Given the description of an element on the screen output the (x, y) to click on. 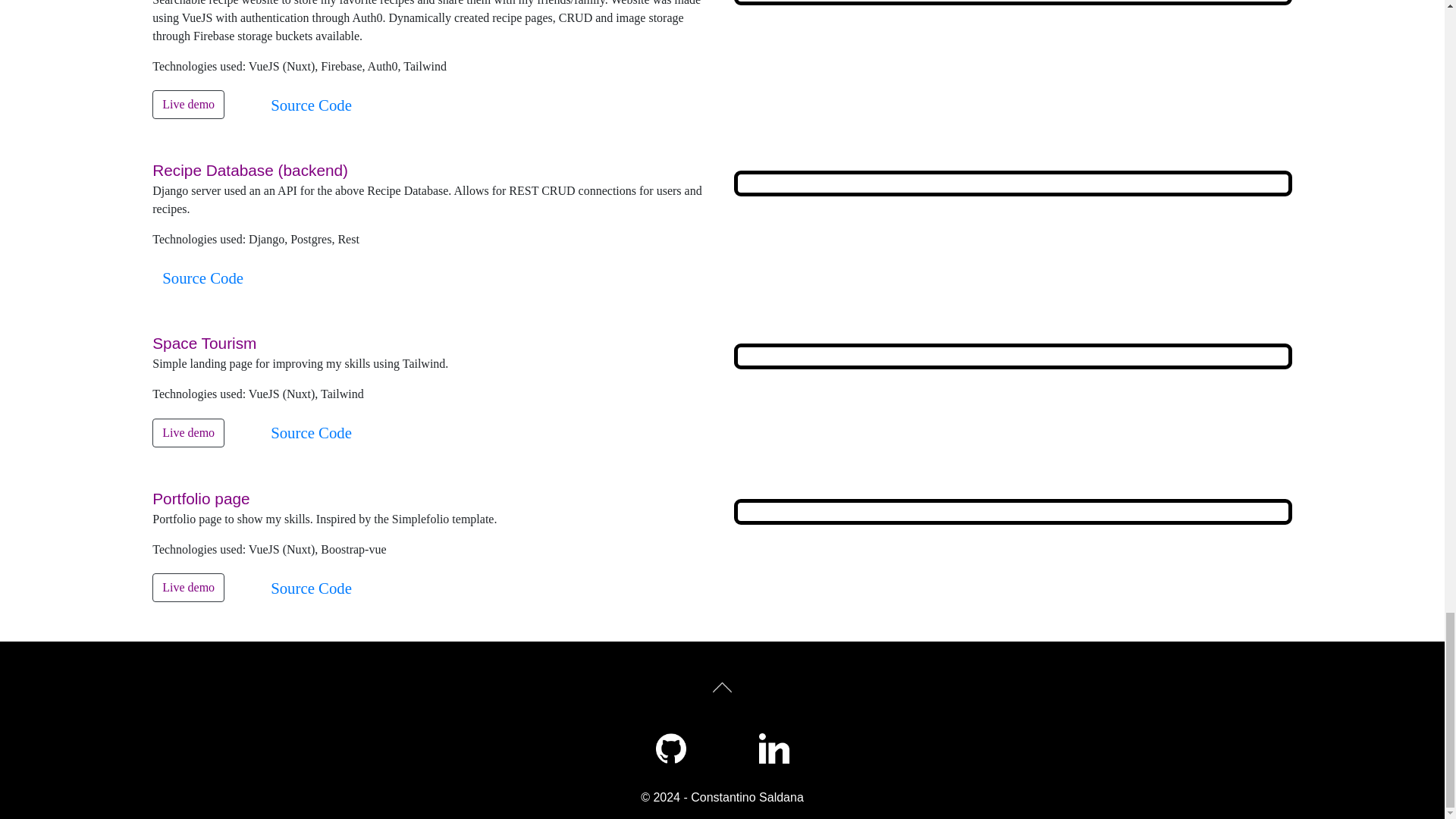
Github (670, 748)
Source Code (310, 587)
Live demo (188, 587)
Live demo (188, 432)
LinkedIn (773, 748)
Live demo (188, 104)
Source Code (310, 104)
Source Code (310, 432)
Source Code (202, 277)
